Given the description of an element on the screen output the (x, y) to click on. 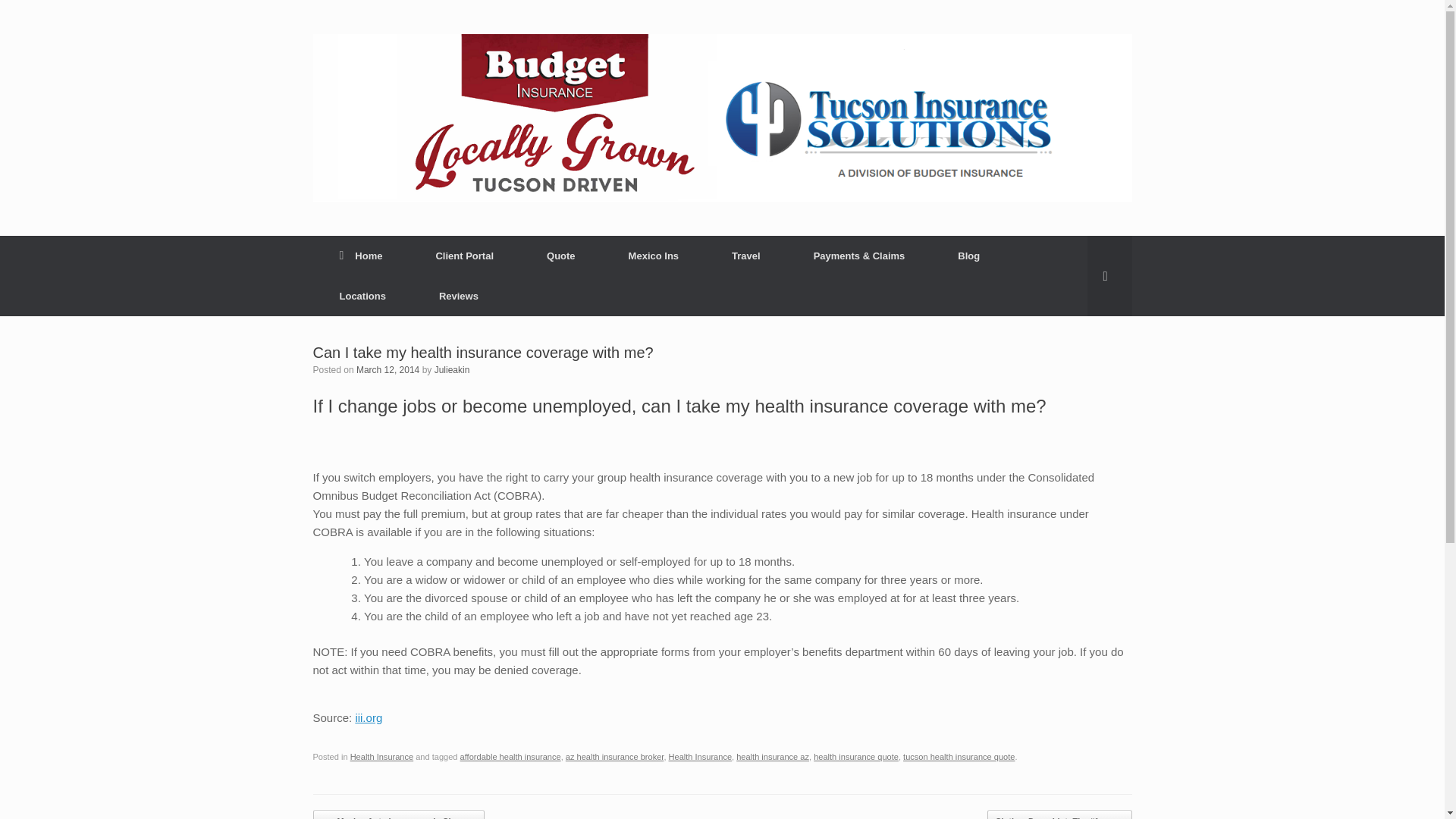
Quote (560, 255)
View all posts by Julieakin (451, 369)
Home (361, 255)
Mexico Ins (653, 255)
Client Portal (464, 255)
1:56 pm (387, 369)
